Given the description of an element on the screen output the (x, y) to click on. 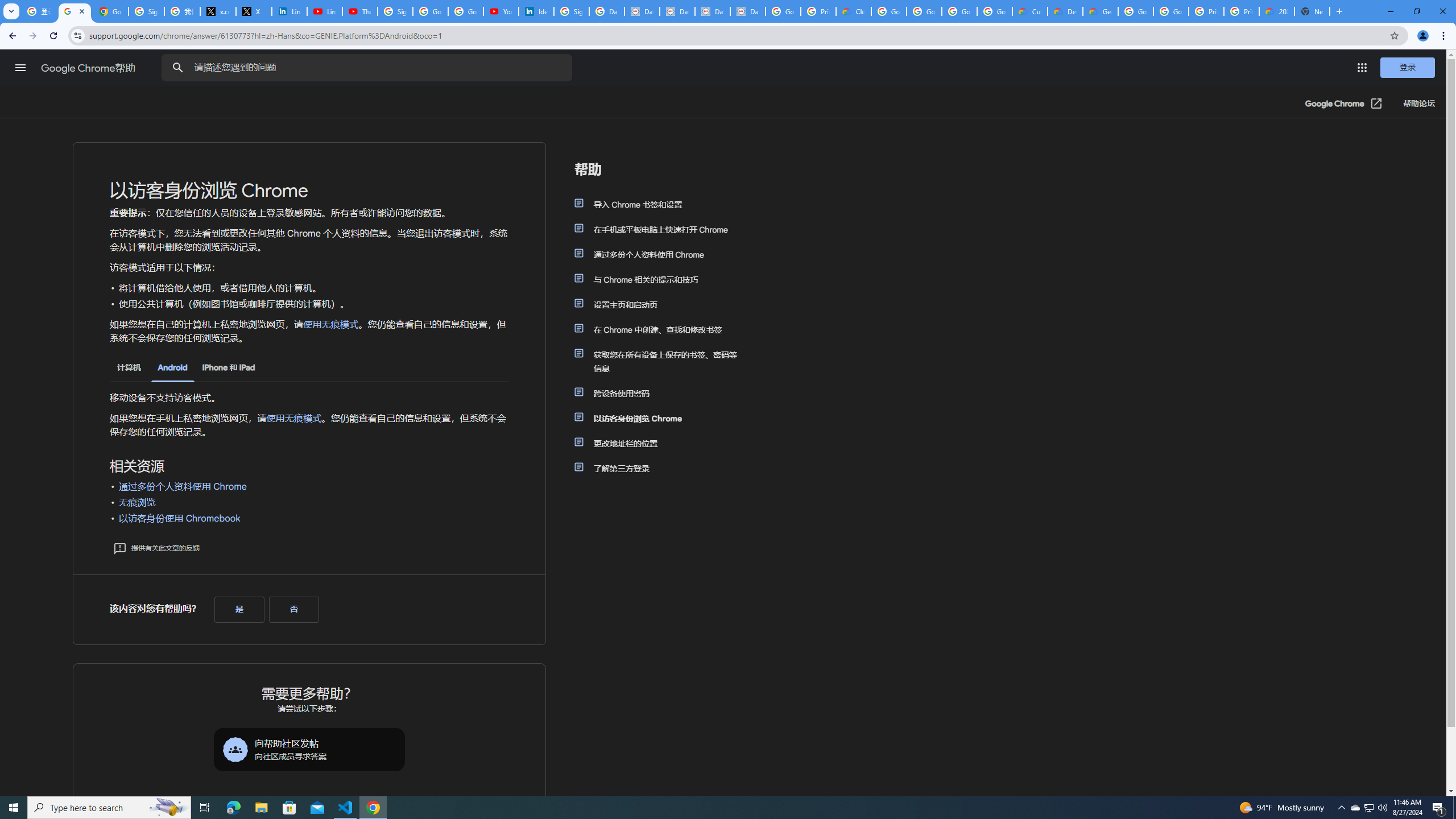
Sign in - Google Accounts (394, 11)
Gemini for Business and Developers | Google Cloud (1099, 11)
Android (172, 368)
